Given the description of an element on the screen output the (x, y) to click on. 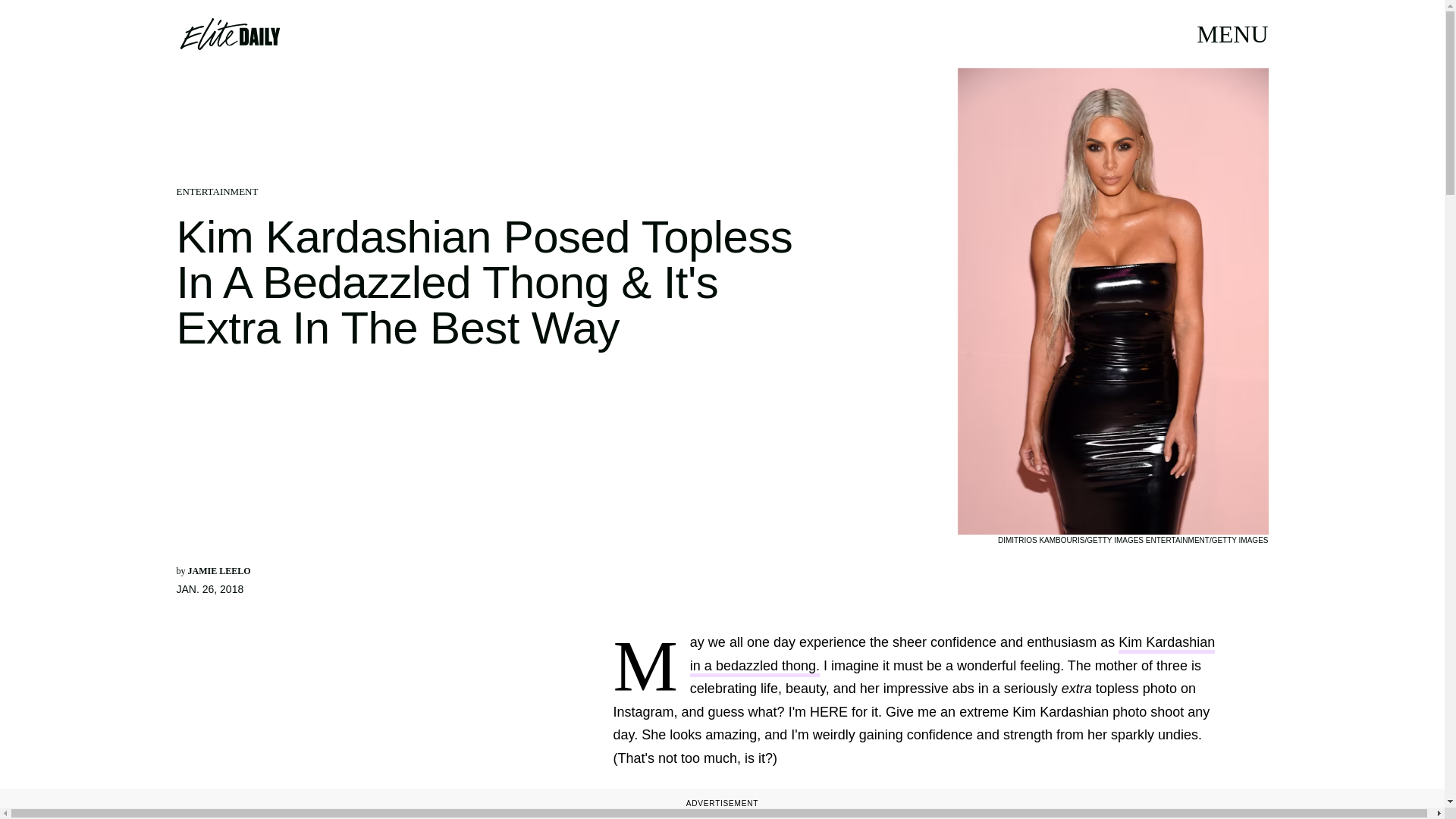
Kim Kardashian in a bedazzled thong. (952, 655)
Elite Daily (229, 33)
